Given the description of an element on the screen output the (x, y) to click on. 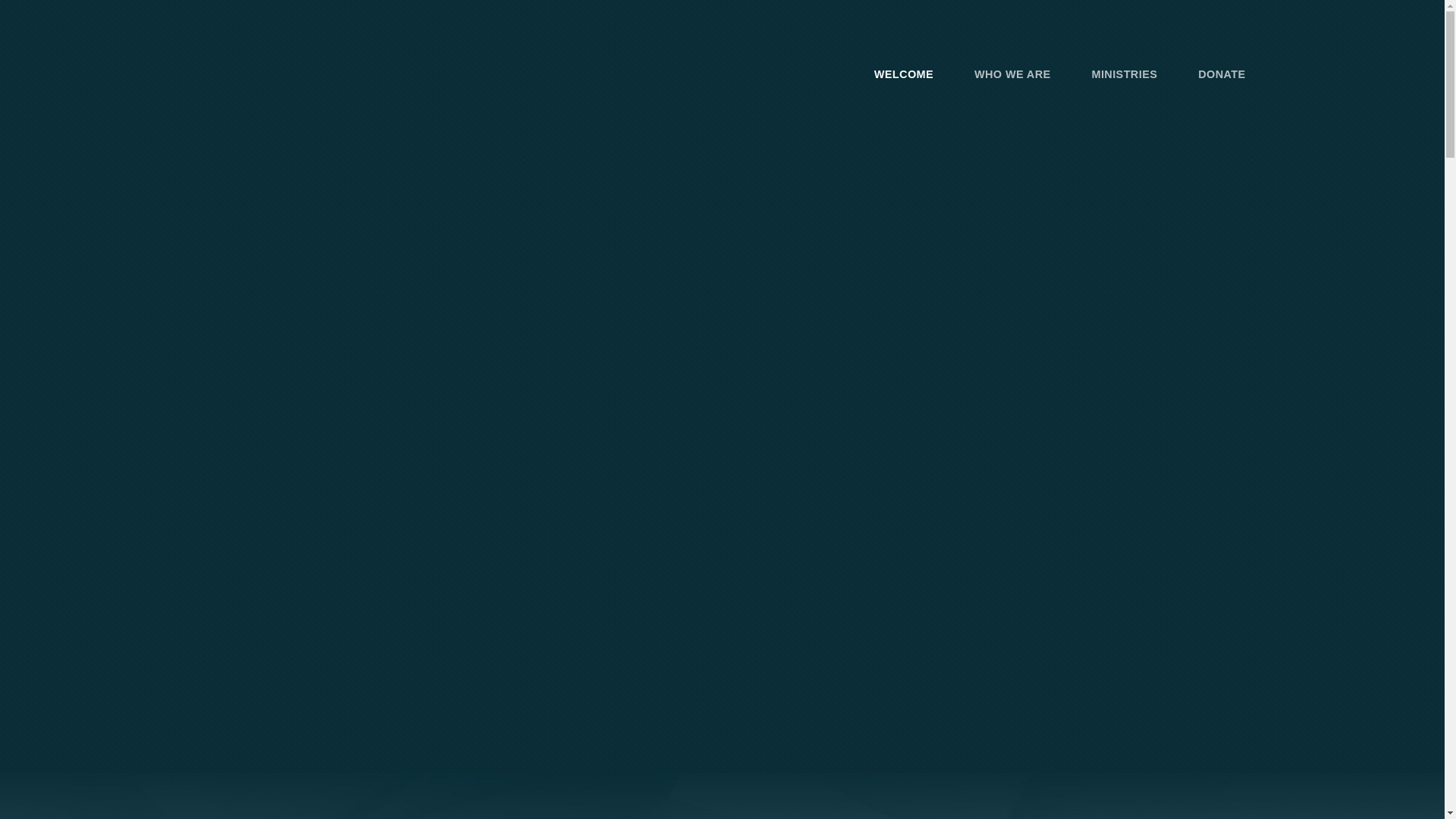
DONATE (1221, 73)
MINISTRIES (1124, 73)
WELCOME (903, 73)
WHO WE ARE (1012, 73)
